Given the description of an element on the screen output the (x, y) to click on. 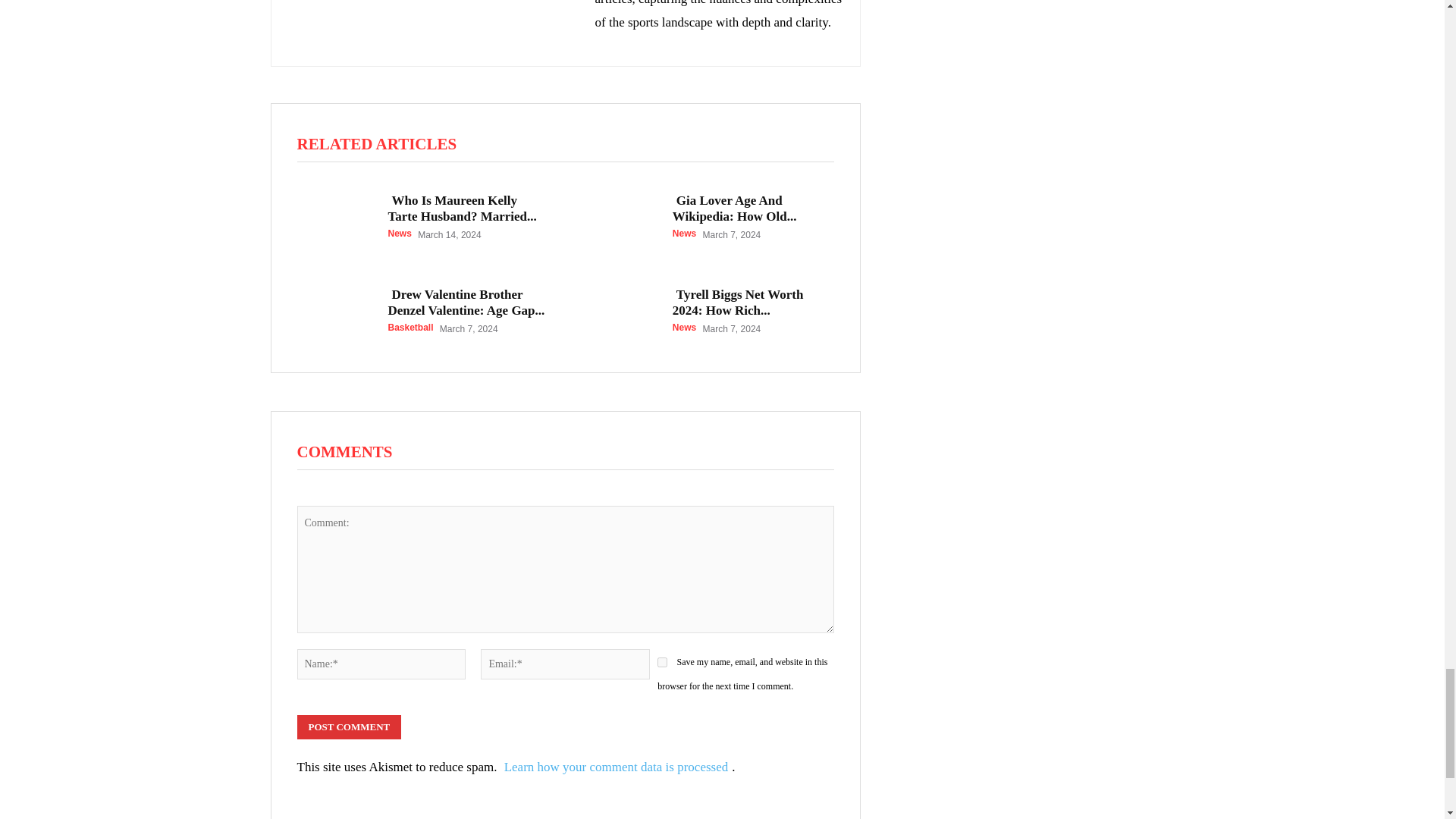
yes (662, 662)
Post Comment (349, 726)
